Given the description of an element on the screen output the (x, y) to click on. 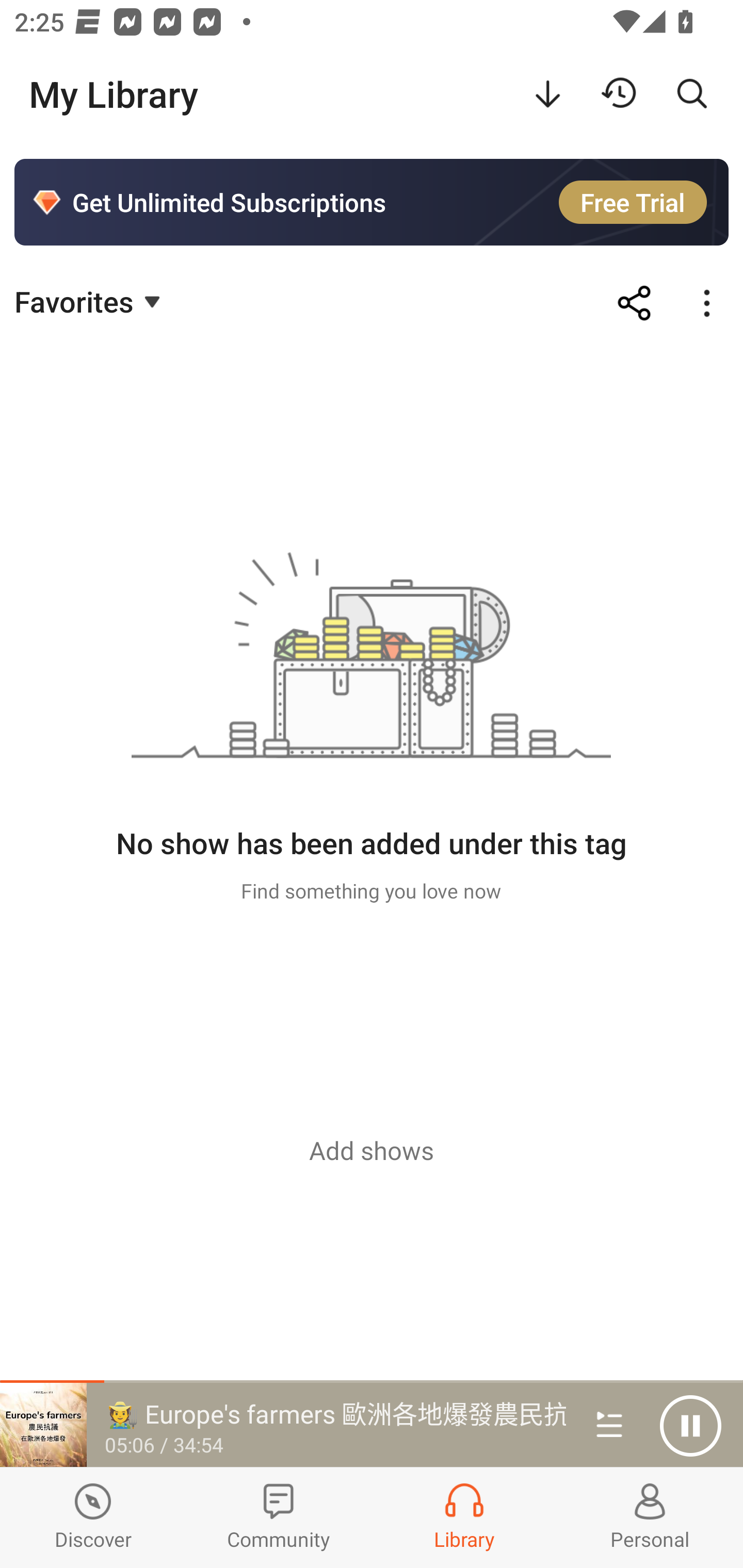
Get Unlimited Subscriptions Free Trial (371, 202)
Free Trial (632, 202)
Favorites (90, 300)
Add shows (371, 1150)
#181 🧑‍🌾 Europe's farmers 歐洲各地爆發農民抗議 05:06 / 34:54 (283, 1424)
Pause (690, 1425)
Discover (92, 1517)
Community (278, 1517)
Library (464, 1517)
Profiles and Settings Personal (650, 1517)
